Given the description of an element on the screen output the (x, y) to click on. 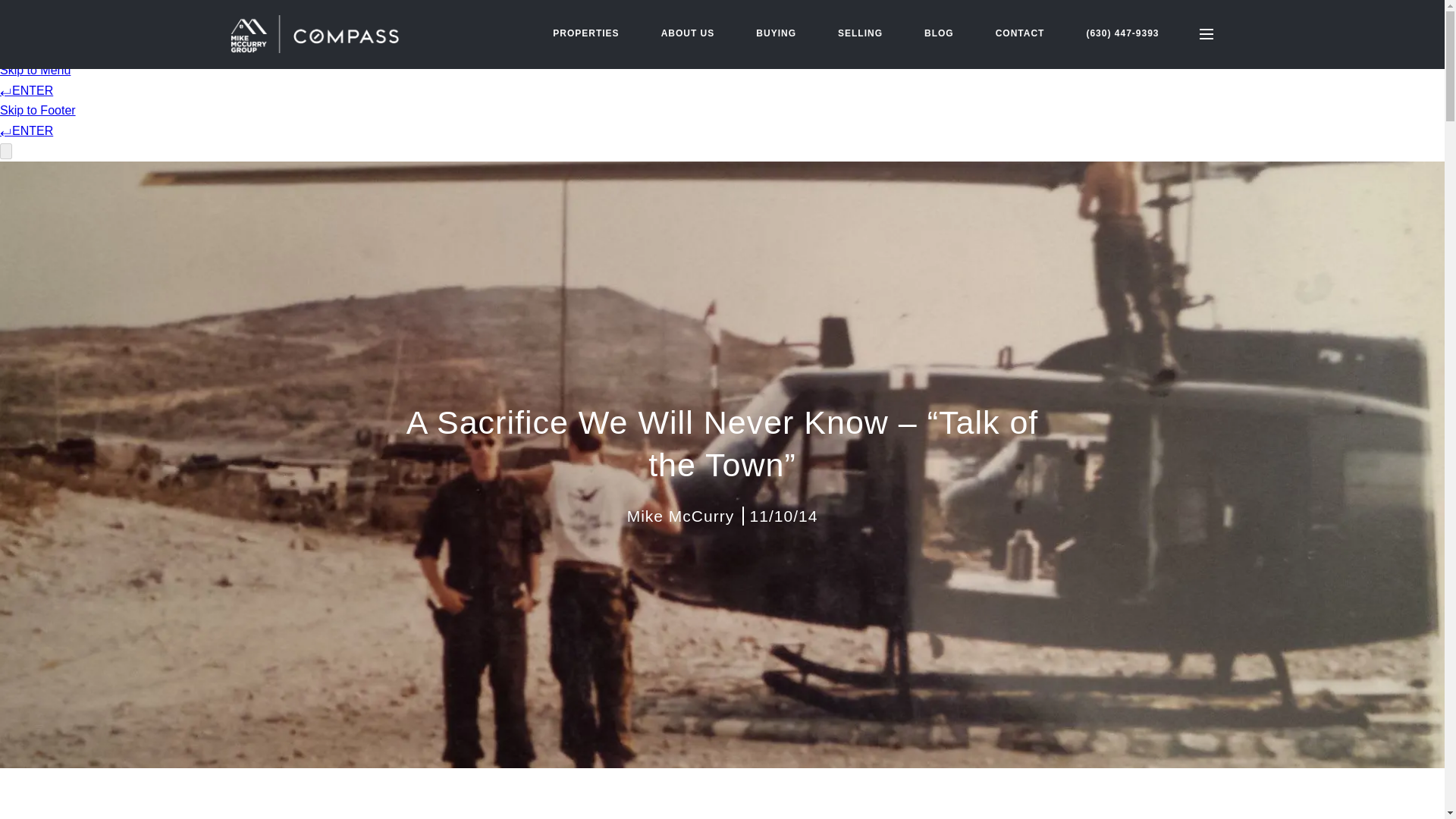
CONTACT (1020, 33)
BLOG (938, 33)
